Given the description of an element on the screen output the (x, y) to click on. 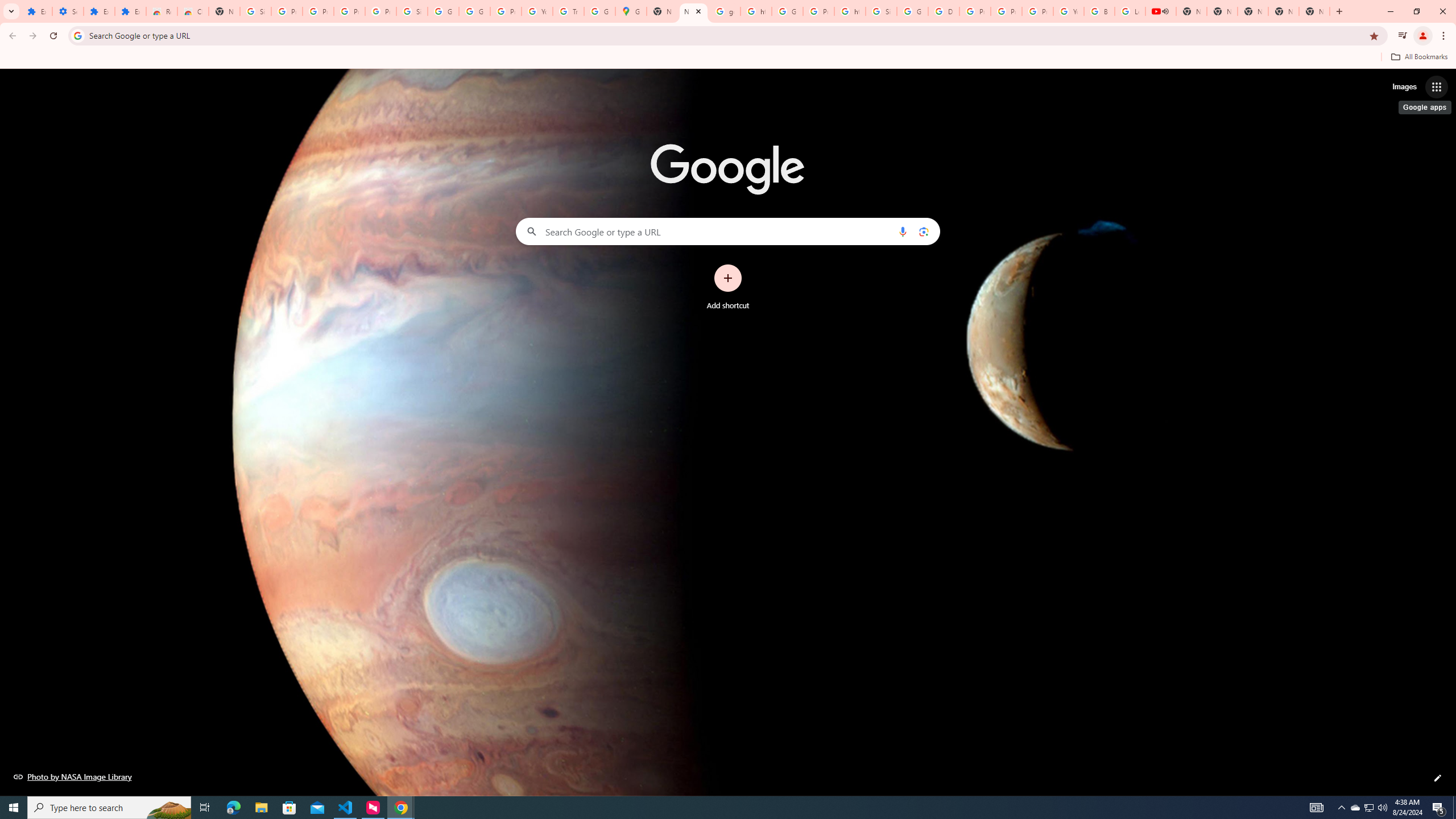
Extensions (98, 11)
All Bookmarks (1418, 56)
Google apps (1436, 86)
New Tab (693, 11)
https://scholar.google.com/ (756, 11)
Bookmarks (728, 58)
Sign in - Google Accounts (255, 11)
Forward (32, 35)
Photo by NASA Image Library (72, 776)
New Tab (223, 11)
